Given the description of an element on the screen output the (x, y) to click on. 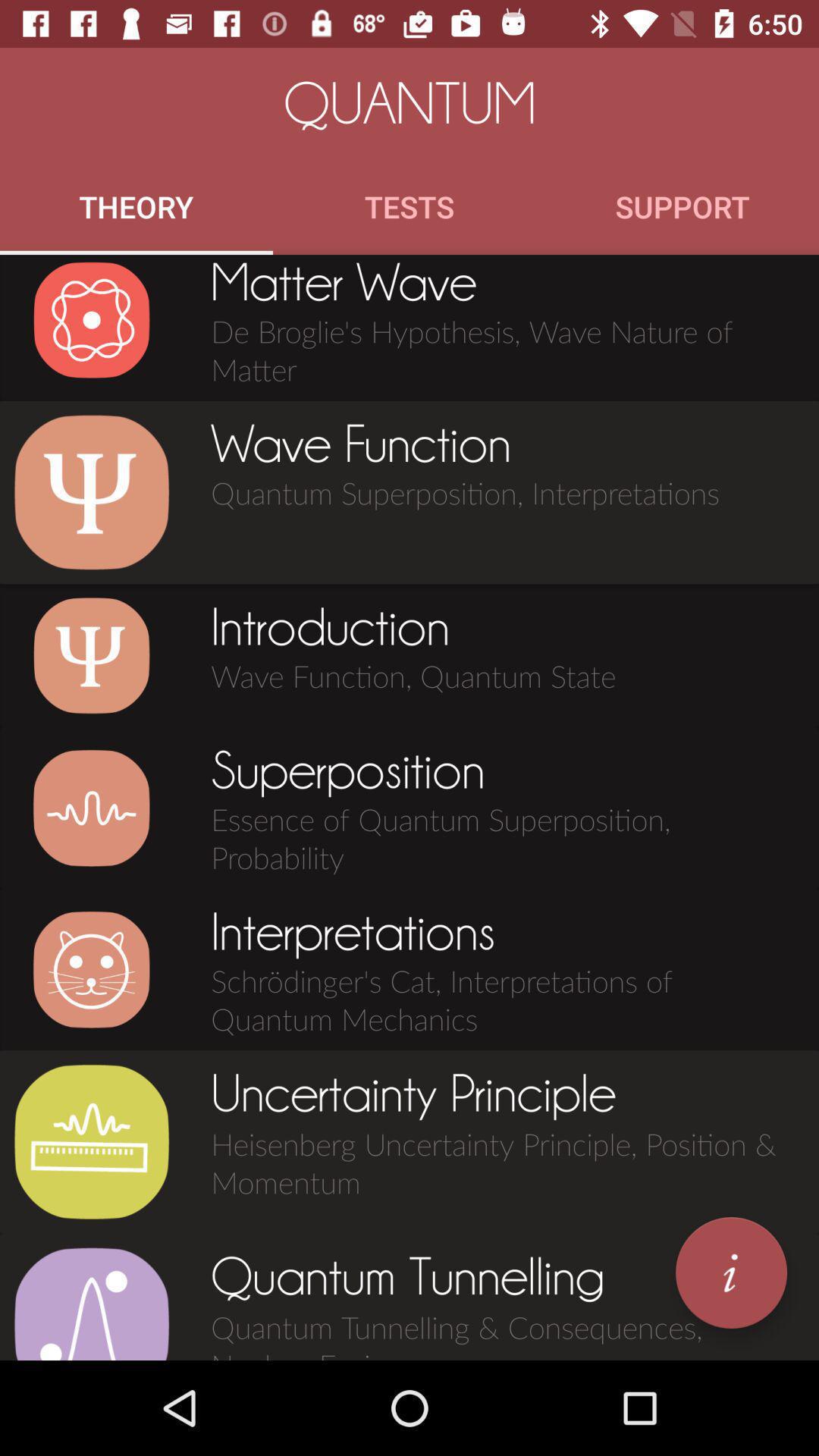
uncertainty principle (91, 1141)
